Given the description of an element on the screen output the (x, y) to click on. 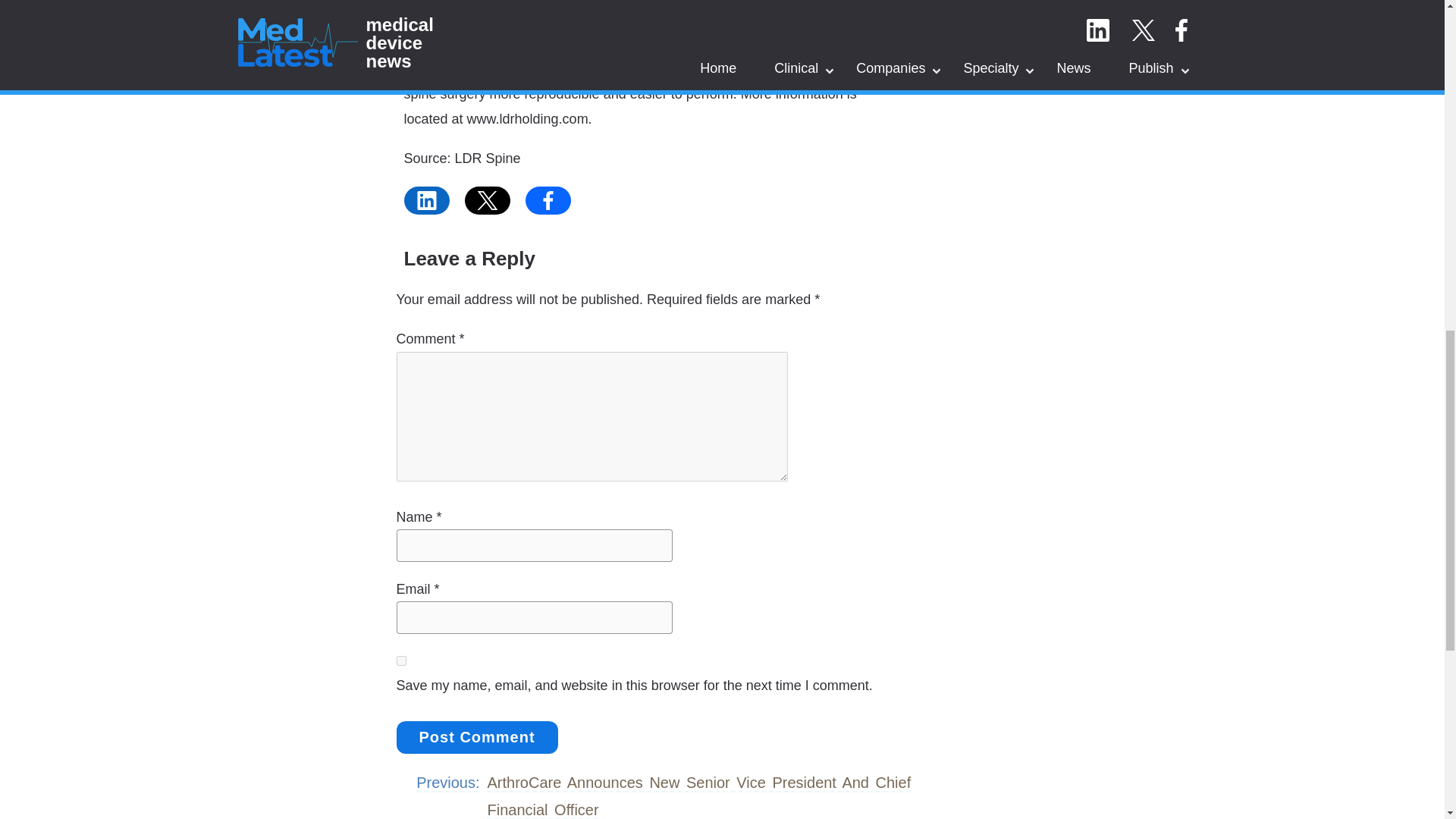
Post Comment (476, 737)
yes (401, 660)
Post Comment (476, 737)
